Given the description of an element on the screen output the (x, y) to click on. 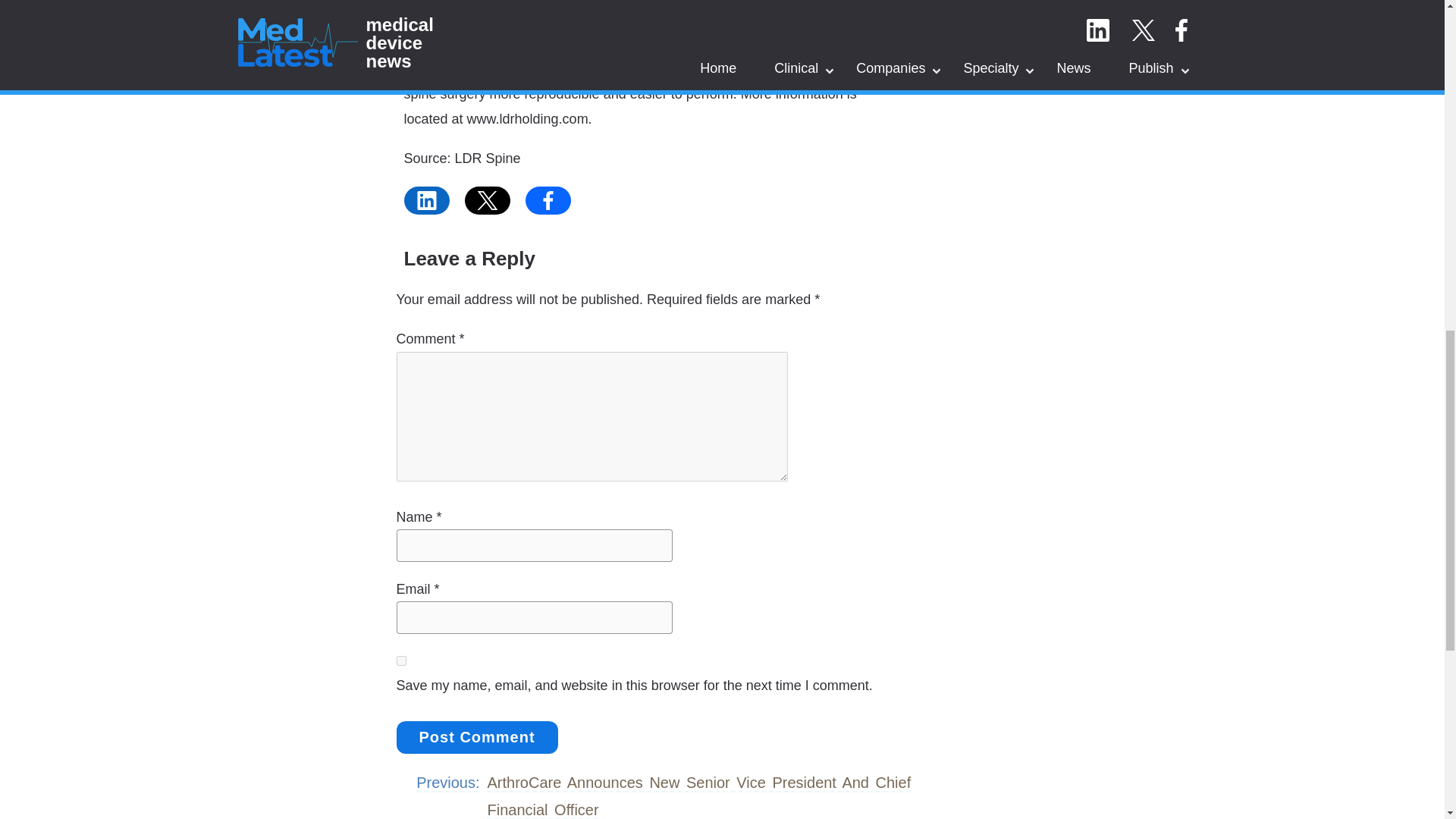
Post Comment (476, 737)
yes (401, 660)
Post Comment (476, 737)
